Given the description of an element on the screen output the (x, y) to click on. 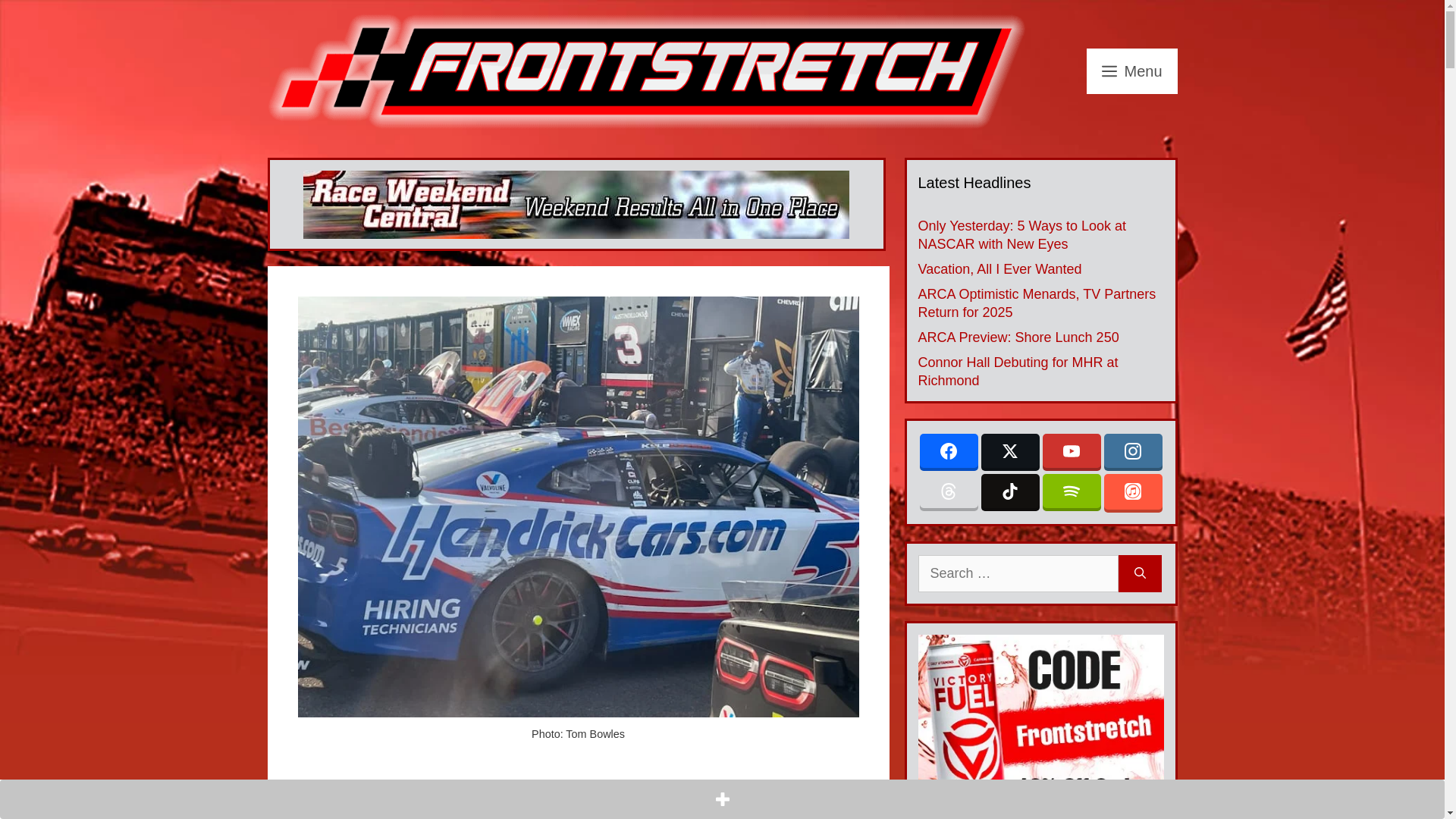
Menu (1131, 71)
